Given the description of an element on the screen output the (x, y) to click on. 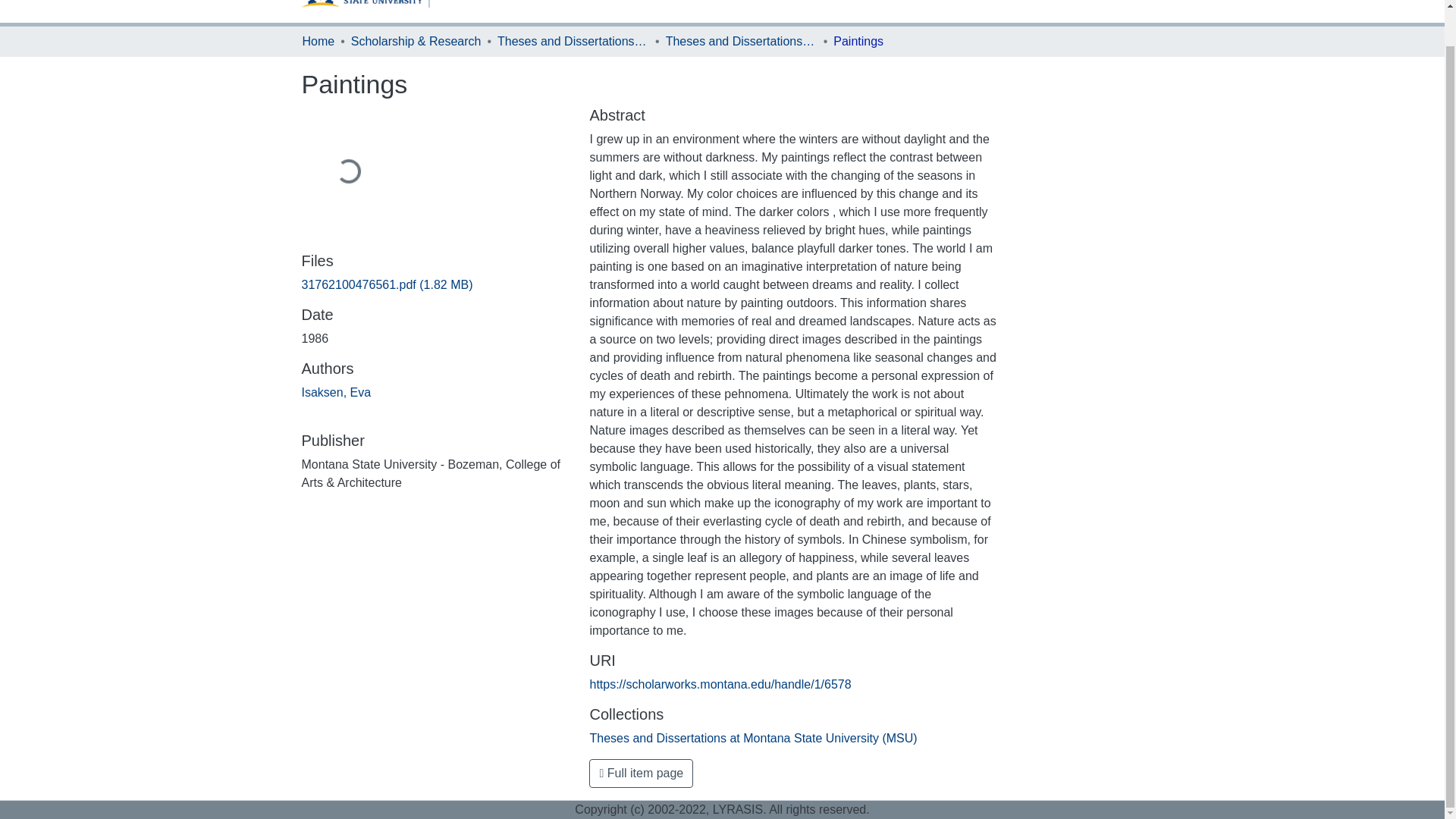
Full item page (641, 773)
Home (317, 41)
Isaksen, Eva (336, 391)
All of DSpace (696, 11)
Statistics (778, 0)
